Given the description of an element on the screen output the (x, y) to click on. 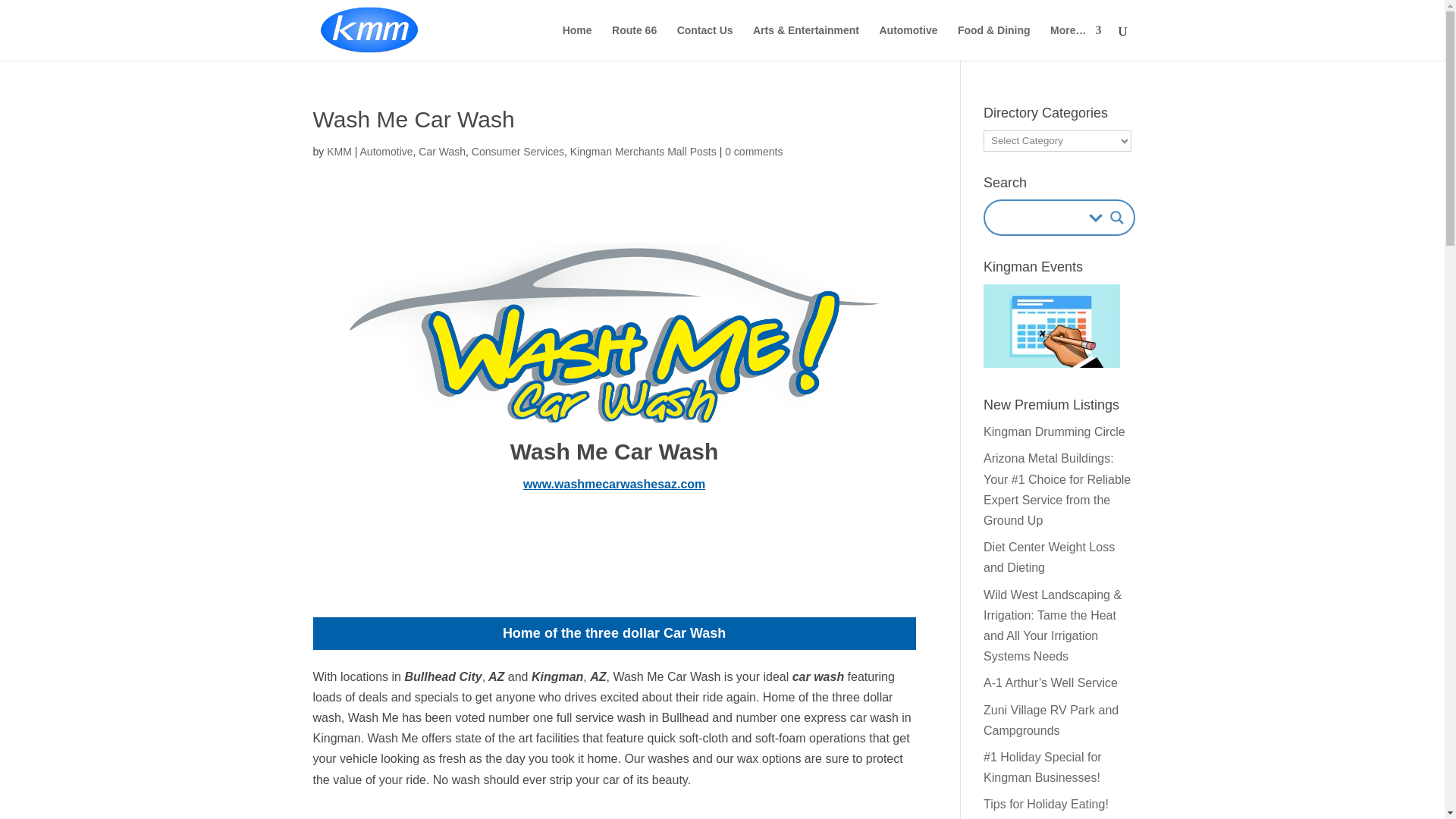
Car Wash, Kingman AZ, Bullhead City AZ (613, 334)
Contact Us (705, 42)
KMM (339, 151)
Kingman Merchants Mall Posts (643, 151)
Automotive (386, 151)
Route 66 (633, 42)
0 comments (754, 151)
Posts by KMM (339, 151)
www.washmecarwashesaz.com (613, 483)
Automotive (908, 42)
Consumer Services (517, 151)
Car Wash (442, 151)
